Given the description of an element on the screen output the (x, y) to click on. 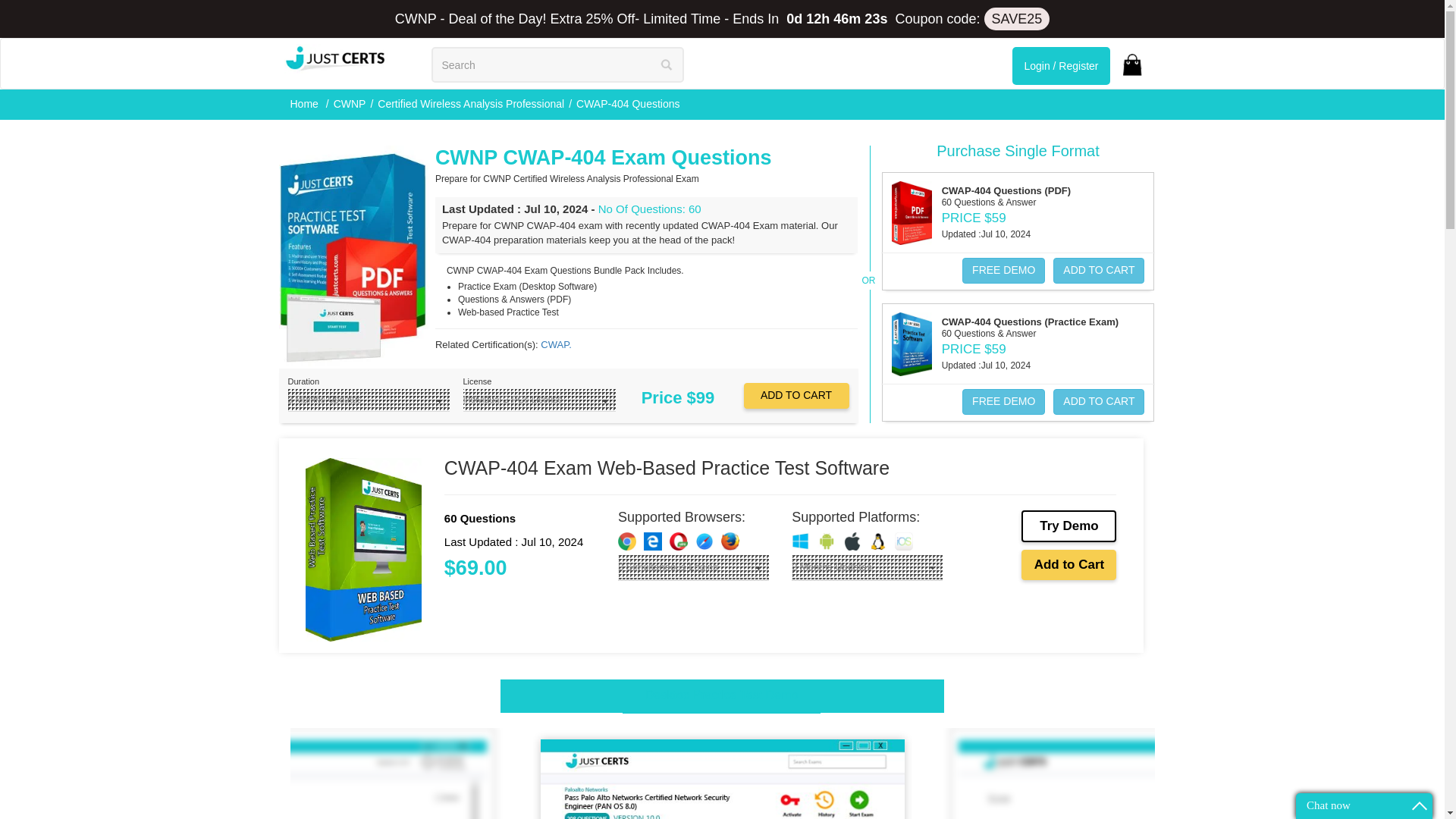
ADD TO CART (795, 395)
ADD TO CART (795, 395)
Home (304, 103)
Maximize (1419, 805)
ADD TO CART (1098, 401)
Add to Cart (1069, 564)
Desktop Practice Test Demo (722, 696)
FREE DEMO (1003, 401)
Certified Wireless Analysis Professional (470, 103)
Try Demo (1069, 526)
CWNP (349, 103)
CWAP (555, 344)
FREE DEMO (1003, 270)
ADD TO CART (1098, 270)
